Given the description of an element on the screen output the (x, y) to click on. 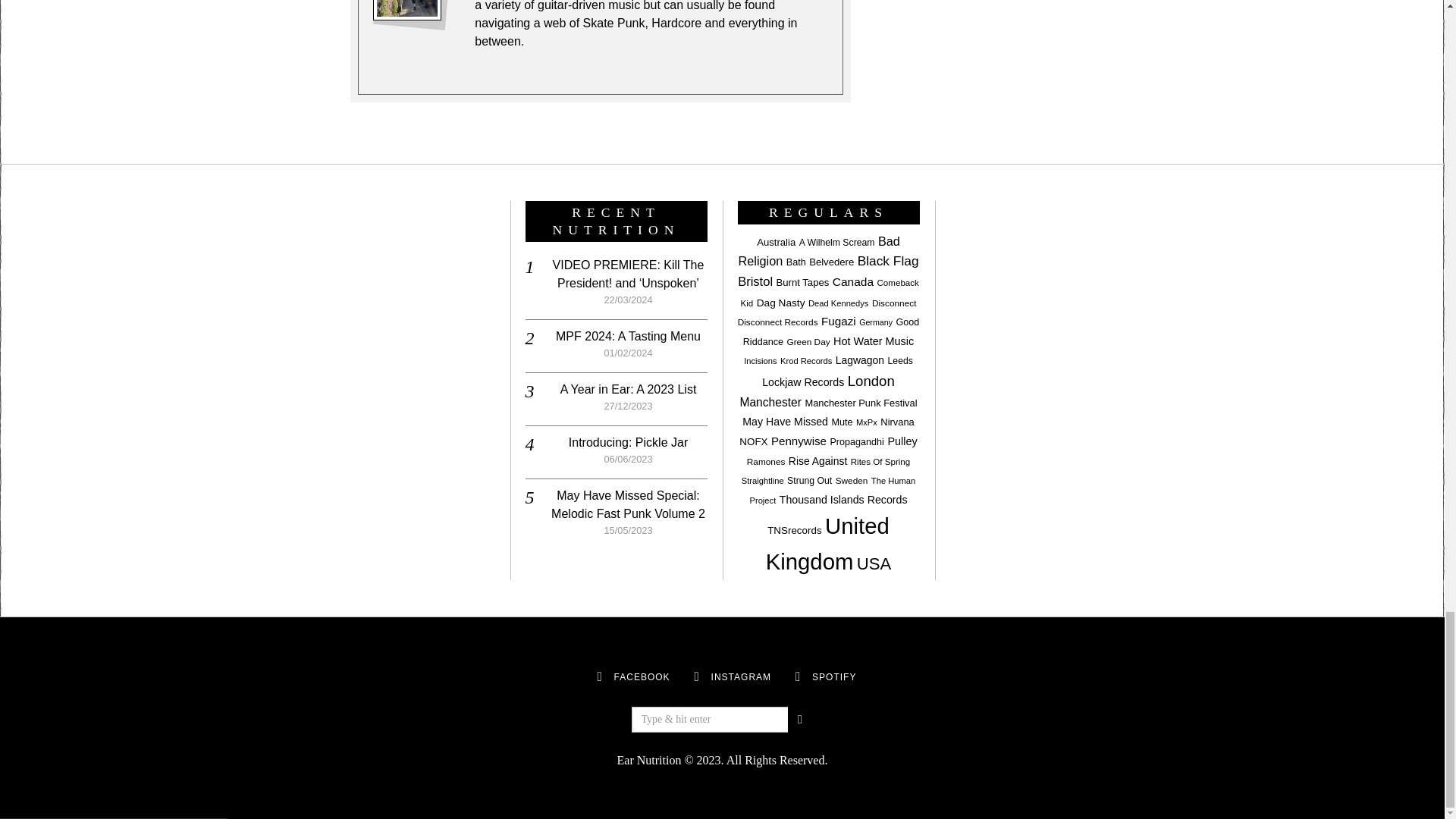
Instagram (696, 676)
Facebook (641, 676)
Go (799, 719)
Spotify (834, 676)
Facebook (599, 676)
Instagram (741, 676)
Spotify (797, 676)
